Given the description of an element on the screen output the (x, y) to click on. 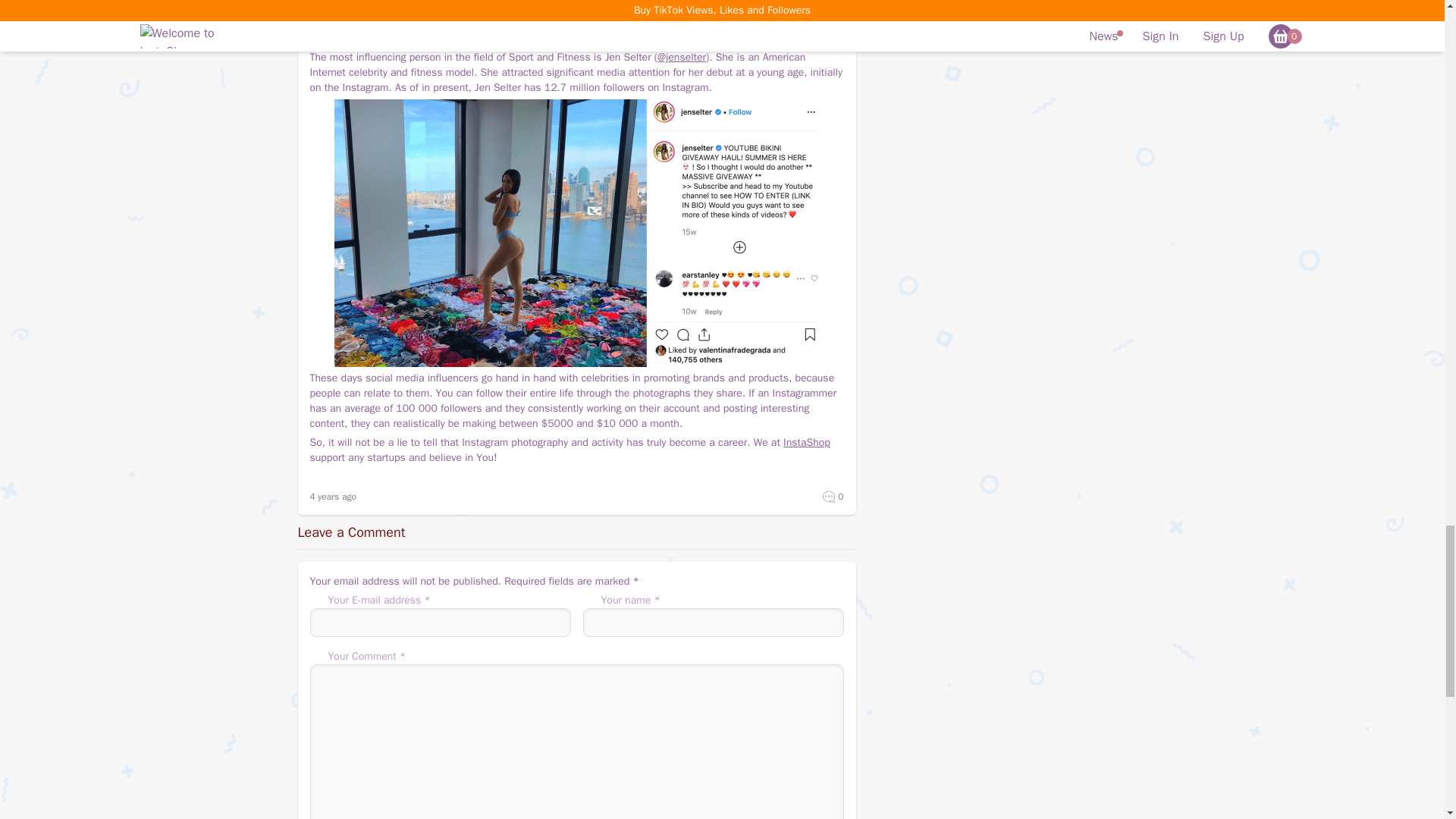
InstaShop (806, 441)
